Given the description of an element on the screen output the (x, y) to click on. 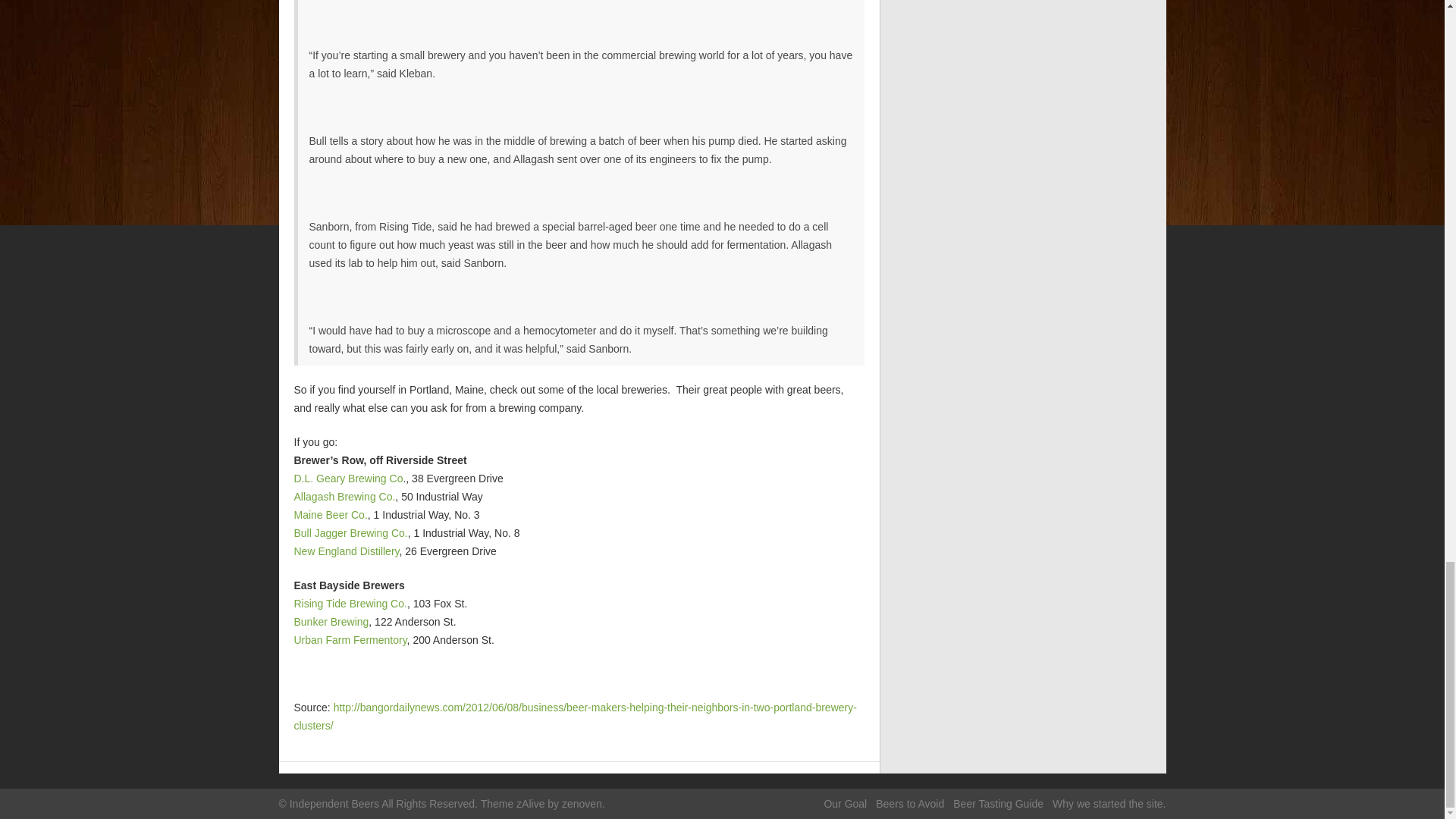
Rising Tide Brewing Co. (350, 603)
New England Distillery (346, 551)
Urban Farm Fermentory (350, 639)
Maine Beer Co. (331, 514)
Bull Jagger Brewing Co. (350, 532)
Bunker Brewing (331, 621)
zenoven (582, 803)
D.L. Geary Brewing Co (348, 478)
Allagash Brewing Co. (345, 496)
